Given the description of an element on the screen output the (x, y) to click on. 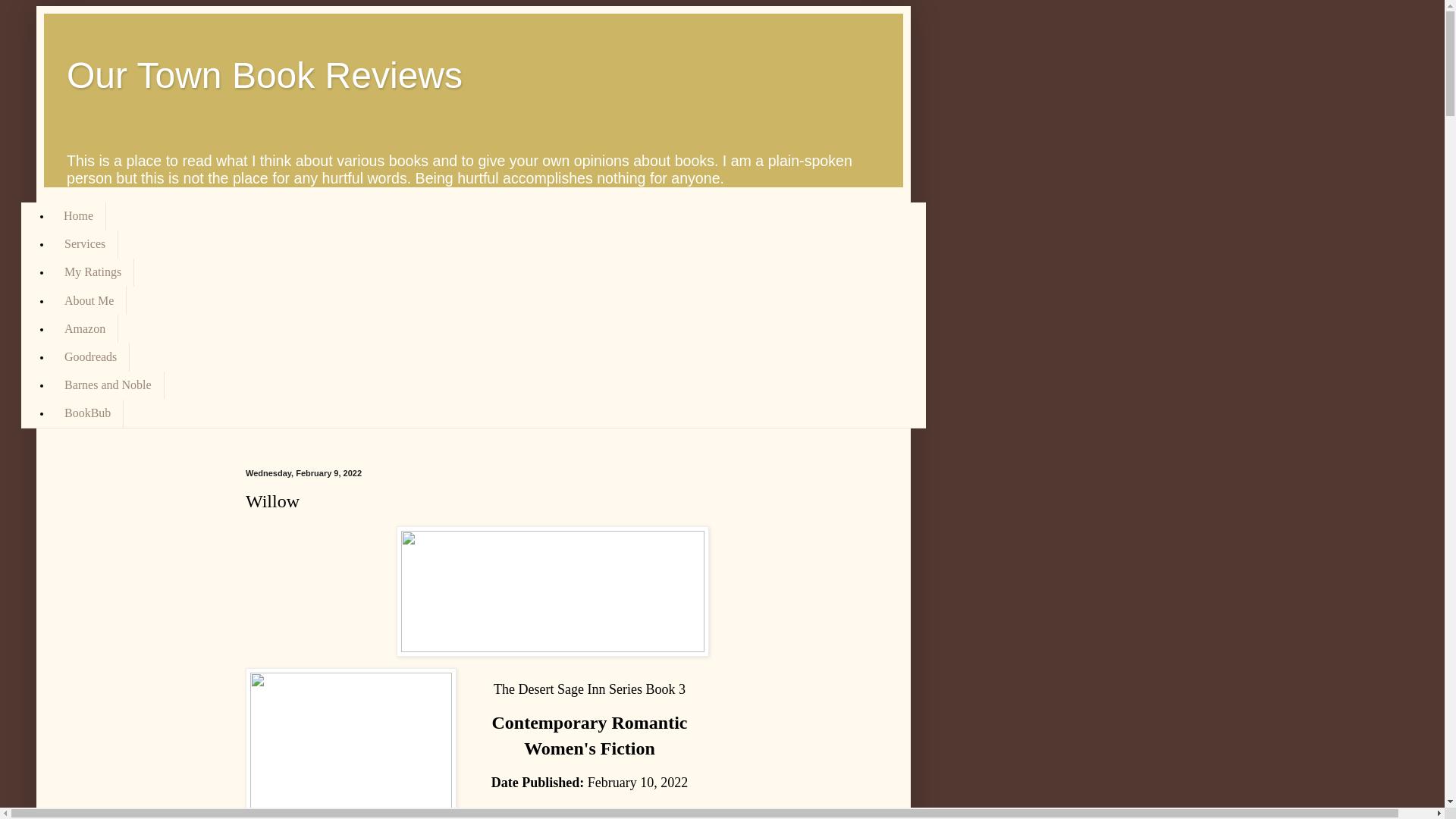
Home (78, 215)
My Ratings (91, 272)
Barnes and Noble (107, 385)
Amazon (83, 328)
Goodreads (89, 357)
About Me (88, 300)
BookBub (86, 413)
Our Town Book Reviews (264, 75)
Services (83, 244)
